Given the description of an element on the screen output the (x, y) to click on. 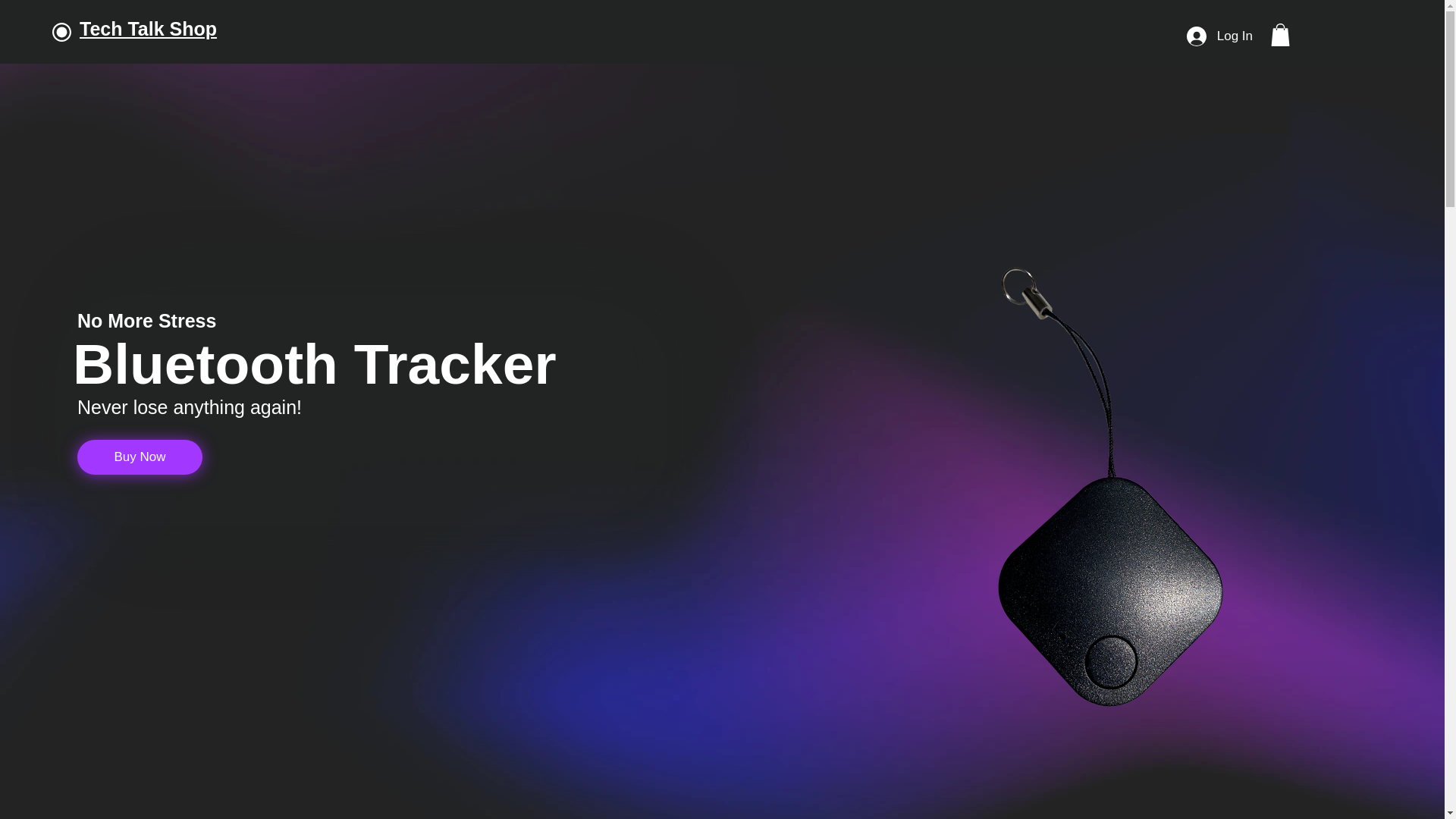
Buy Now (139, 457)
Log In (1219, 36)
Tech Talk Shop (148, 28)
